Given the description of an element on the screen output the (x, y) to click on. 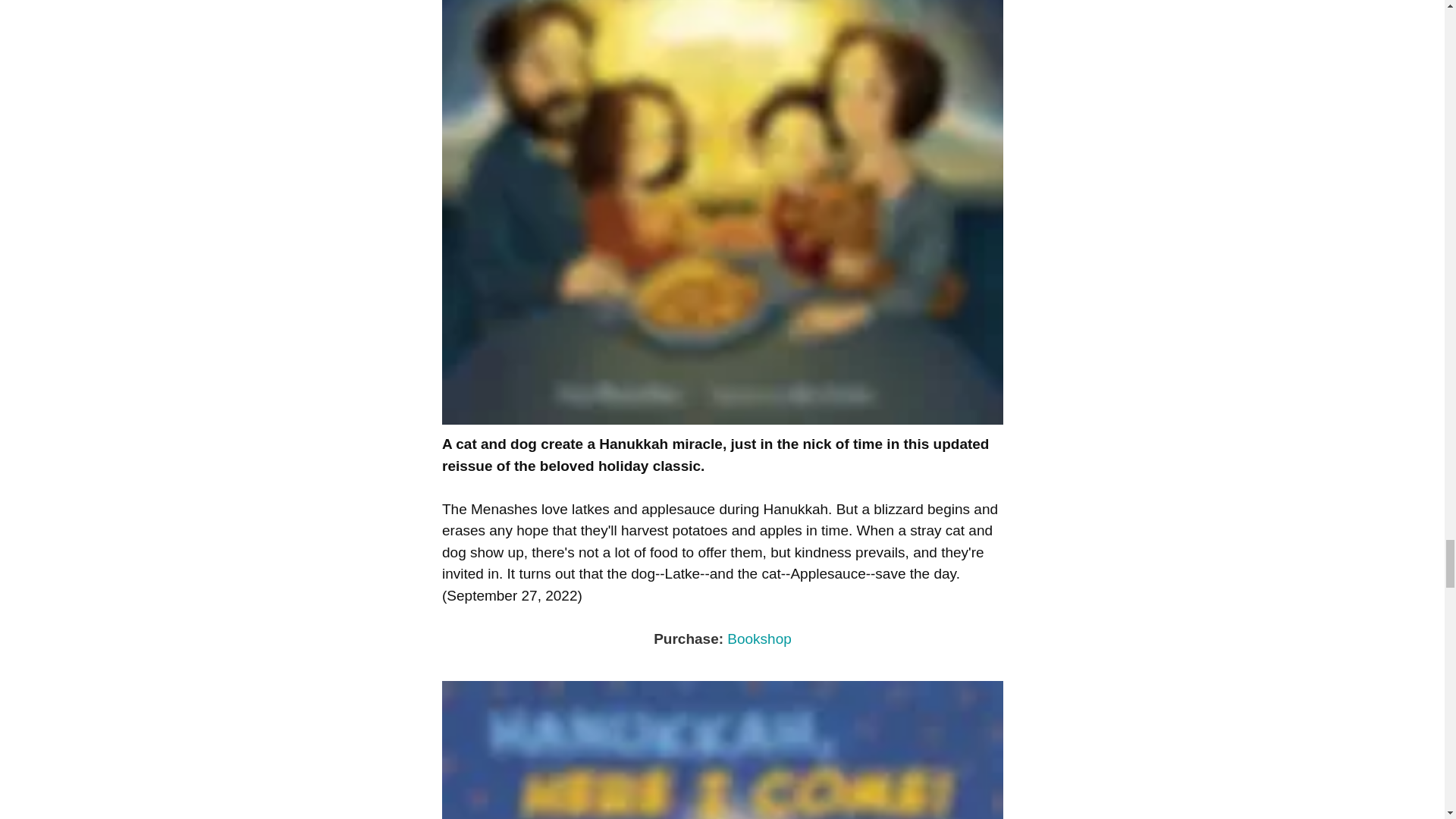
Bookshop (759, 638)
